Given the description of an element on the screen output the (x, y) to click on. 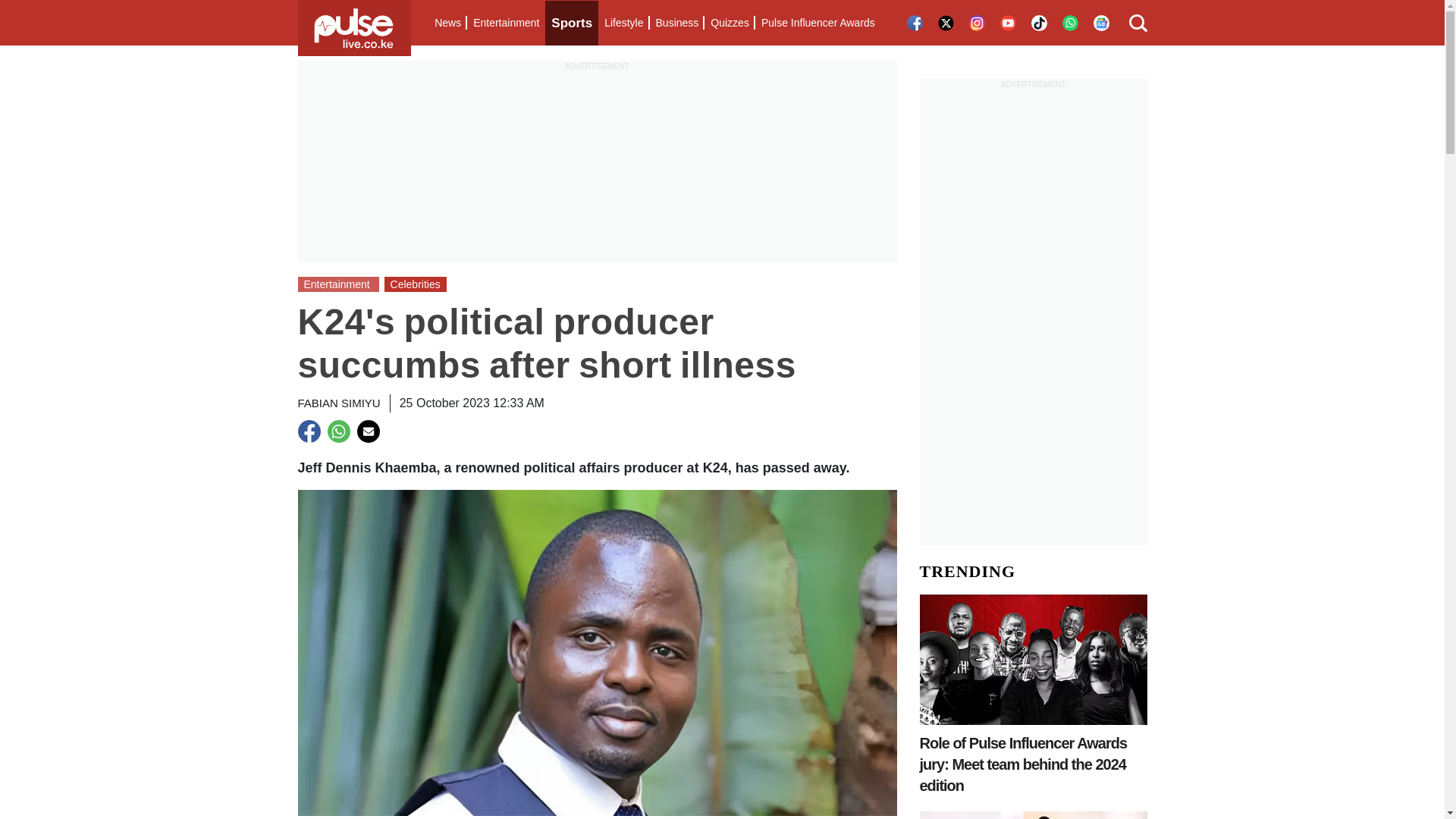
Business (676, 22)
Entertainment (505, 22)
Pulse Influencer Awards (817, 22)
Sports (571, 22)
Lifestyle (623, 22)
Quizzes (729, 22)
